Given the description of an element on the screen output the (x, y) to click on. 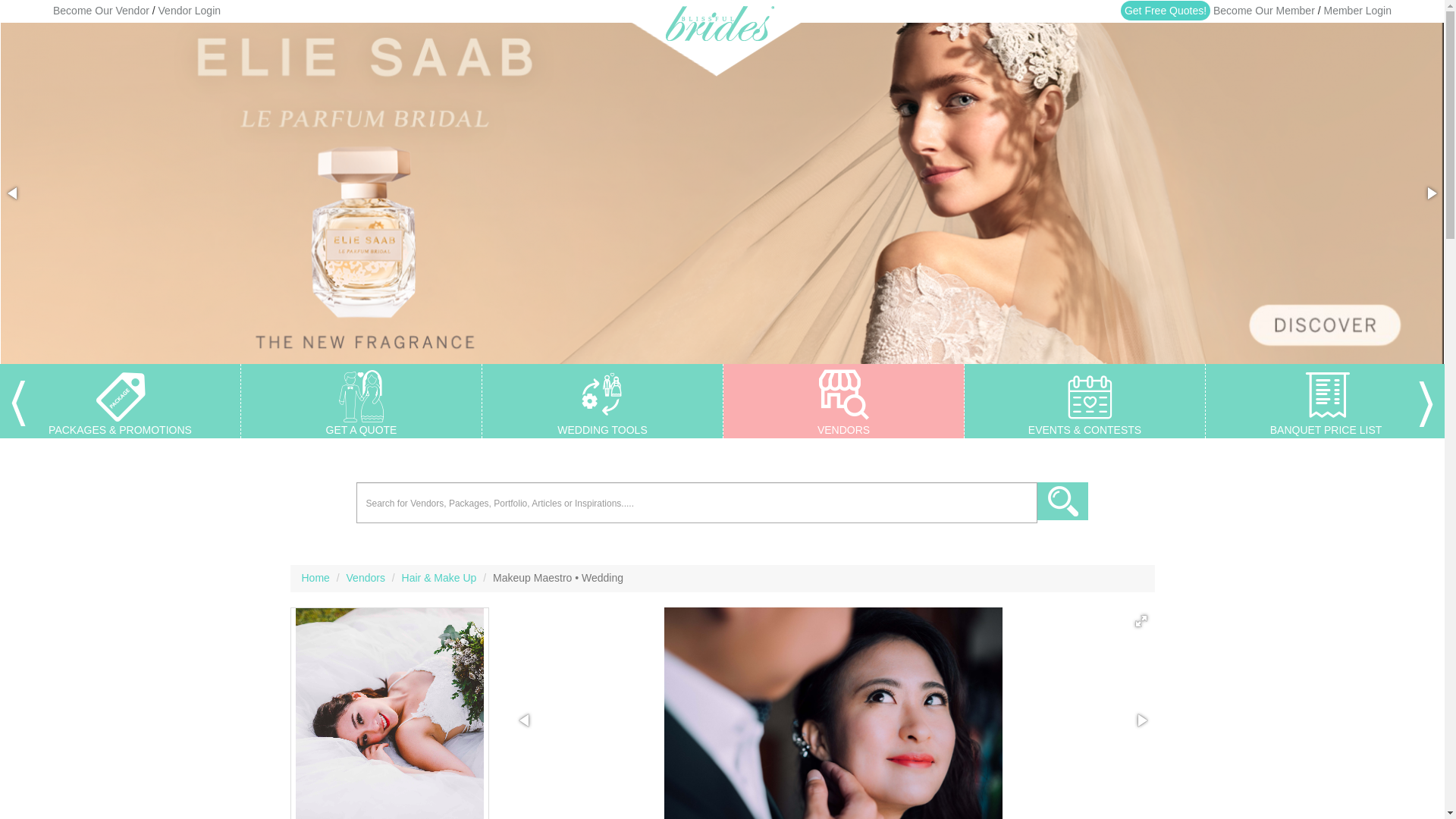
Get Free Quotes! (1165, 10)
Vendor Login (189, 10)
Become Our Vendor (100, 10)
Member Login (1357, 10)
Become Our Member (1263, 10)
